Given the description of an element on the screen output the (x, y) to click on. 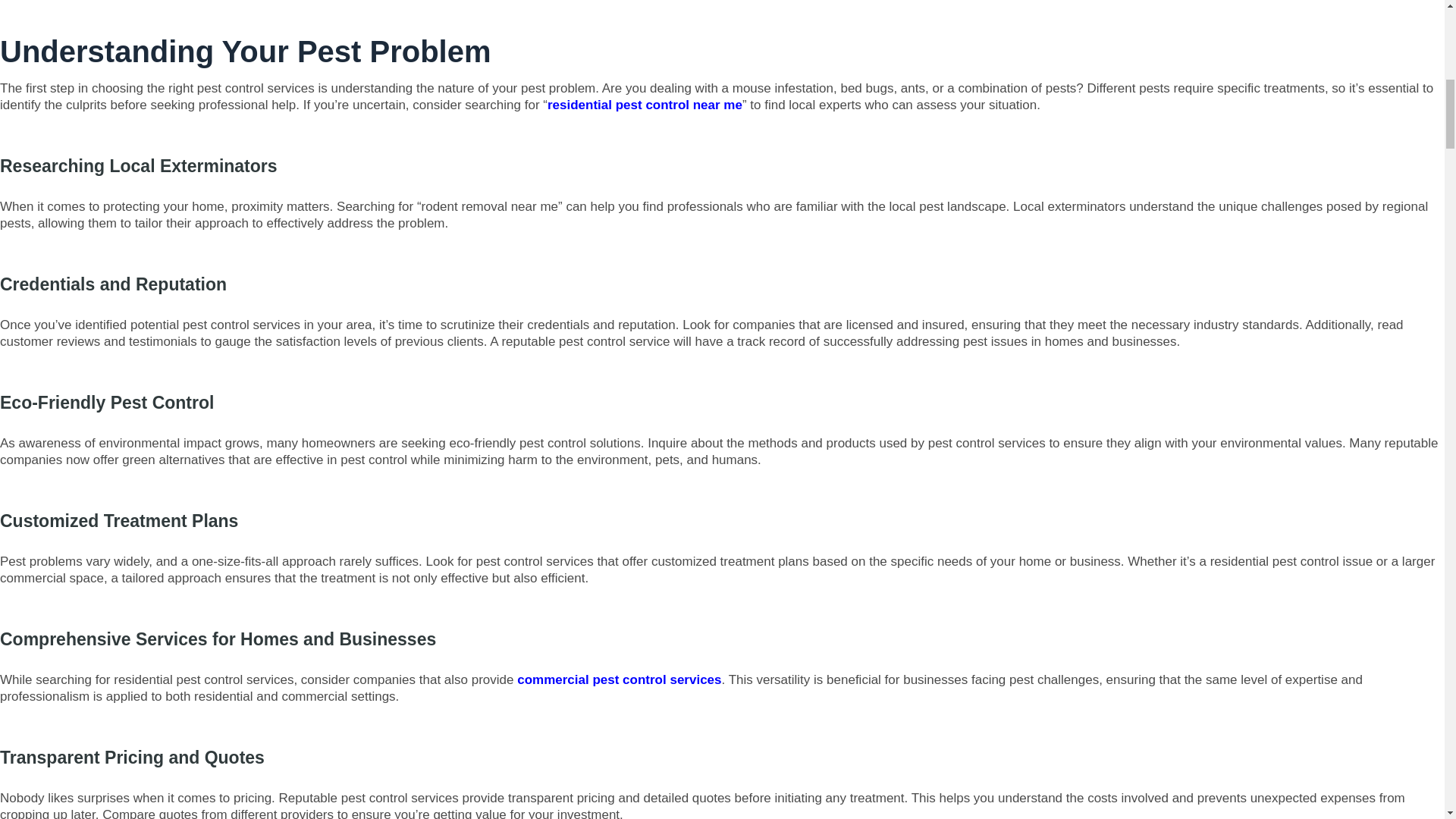
residential pest control near me (644, 104)
commercial pest control services (618, 679)
